Given the description of an element on the screen output the (x, y) to click on. 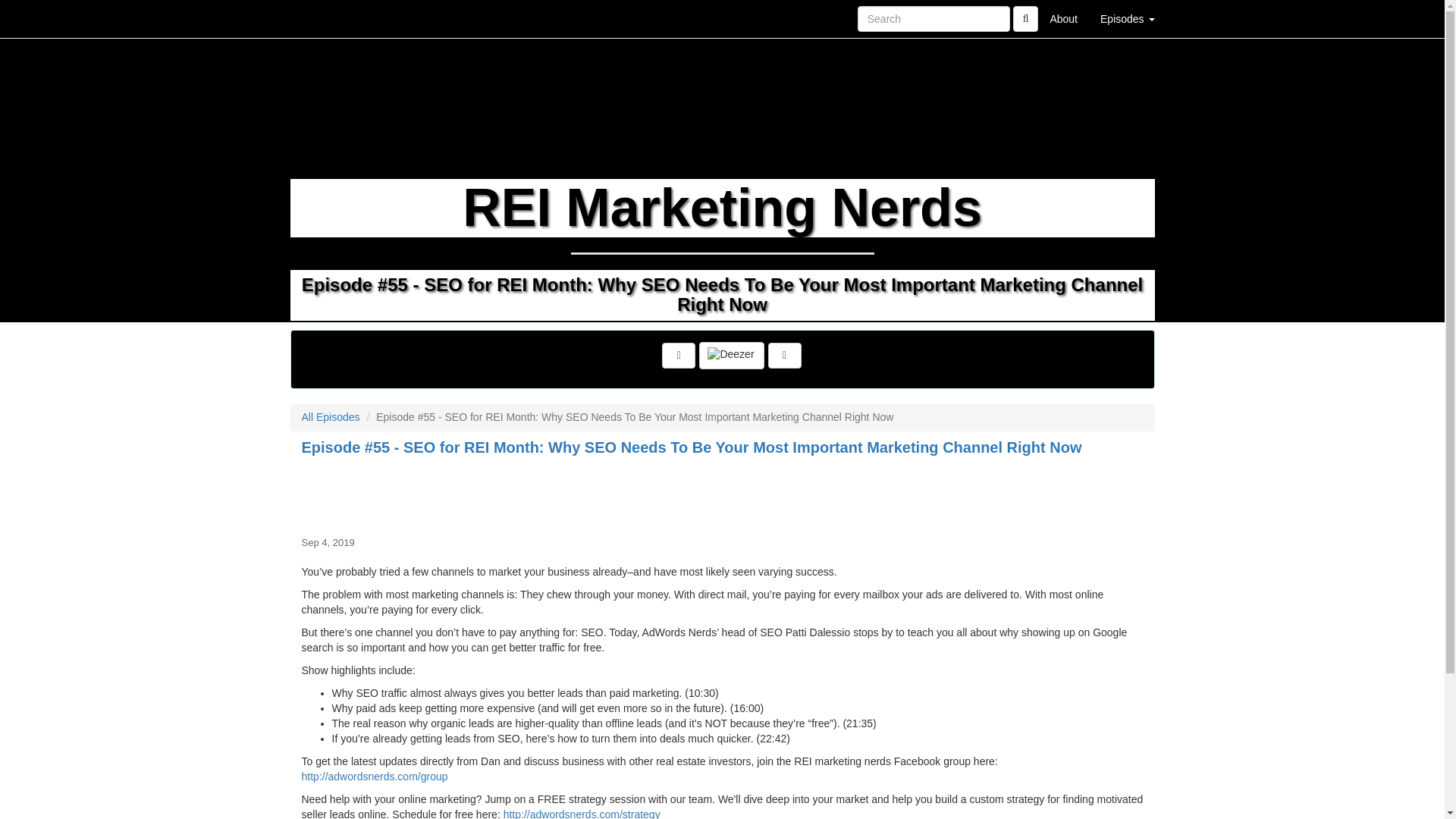
About (1063, 18)
Episodes (1127, 18)
Listen on Deezer (730, 355)
Home Page (320, 18)
Subscribe to RSS Feed (678, 355)
Listen on Spotify (785, 355)
